Given the description of an element on the screen output the (x, y) to click on. 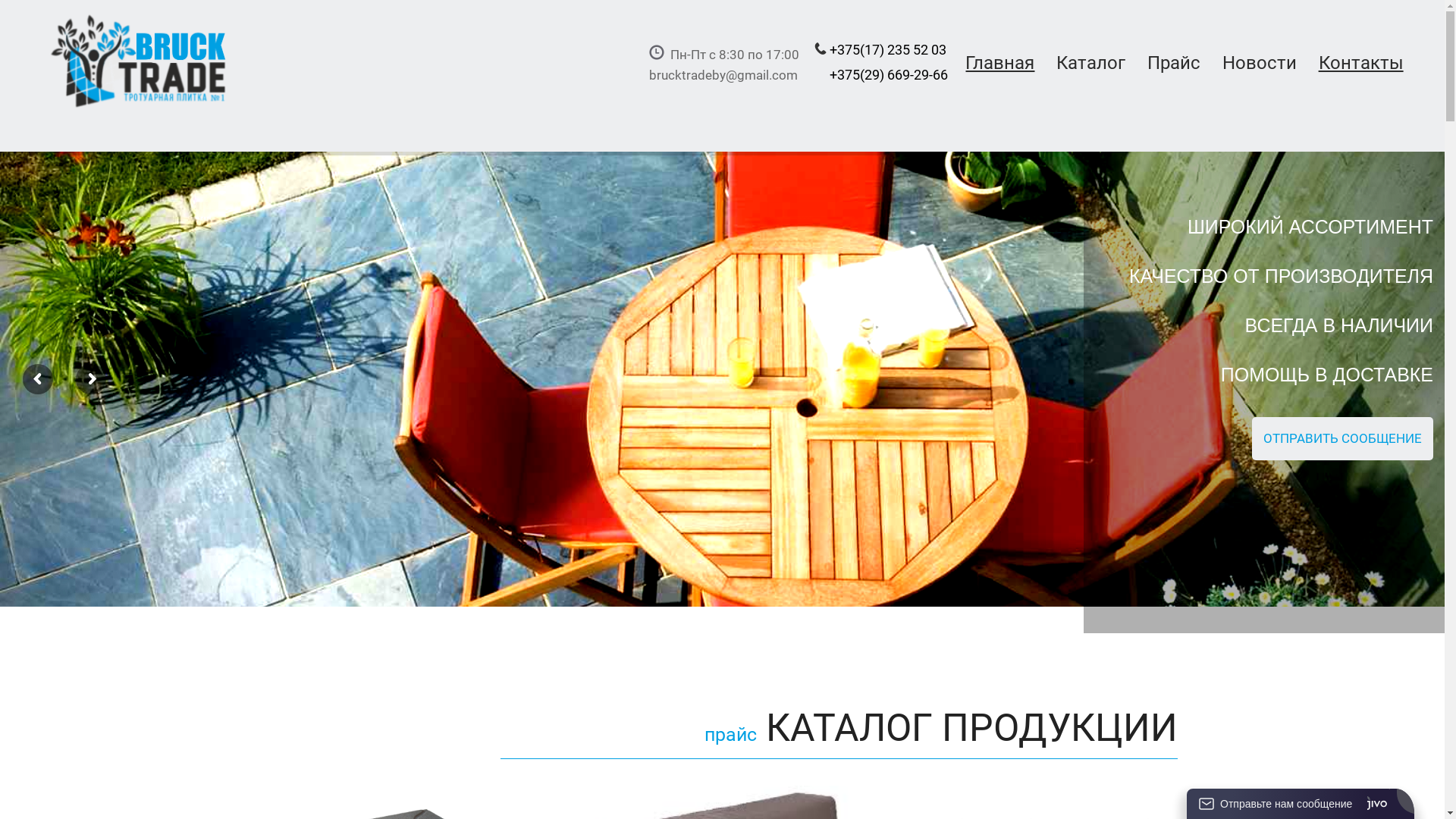
+375(17) 235 52 03
+375(29) 669-29-66 Element type: text (880, 75)
